Given the description of an element on the screen output the (x, y) to click on. 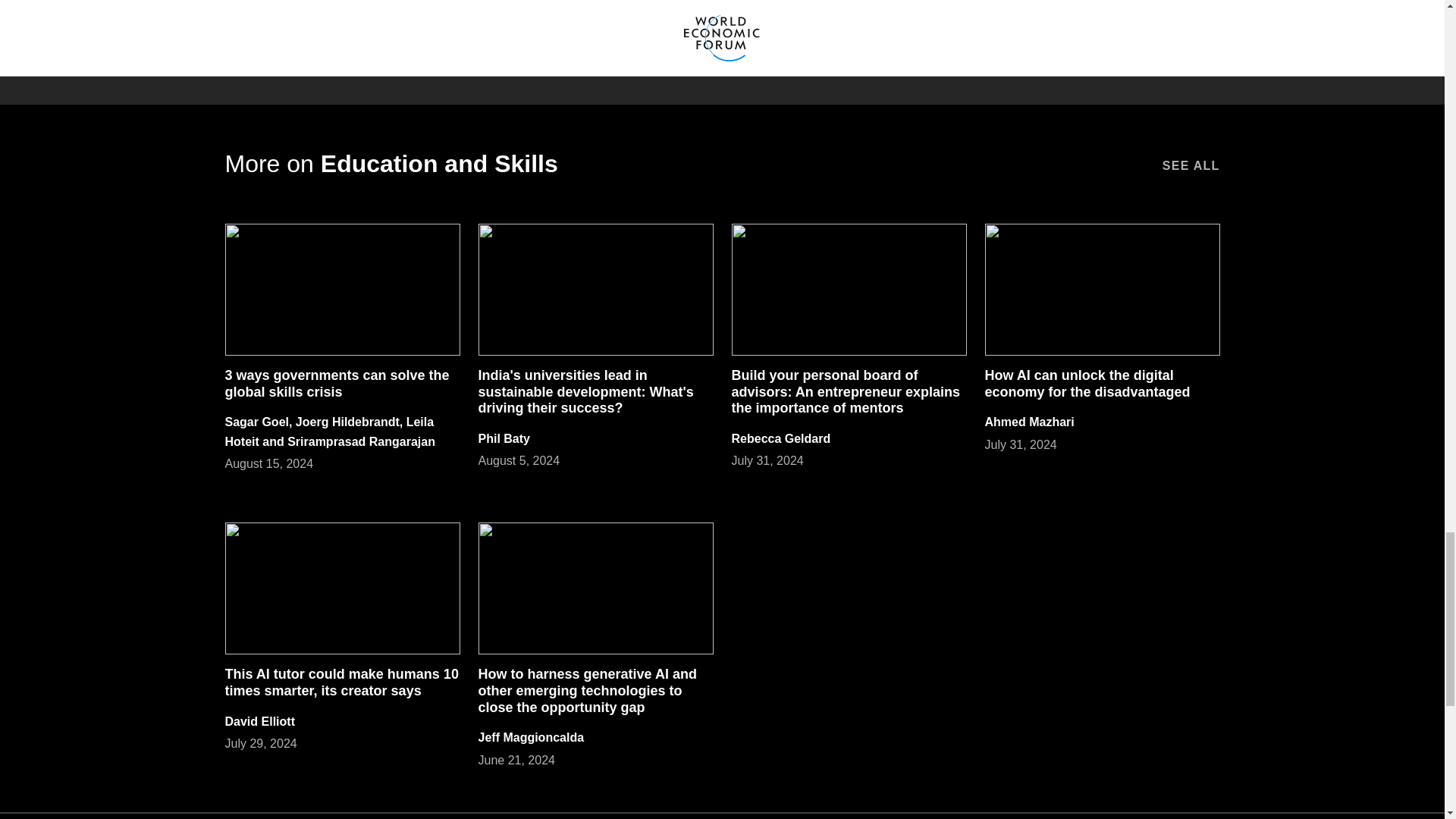
privacy policy (1070, 28)
3 ways governments can solve the global skills crisis (336, 383)
SEE ALL (1190, 163)
